Given the description of an element on the screen output the (x, y) to click on. 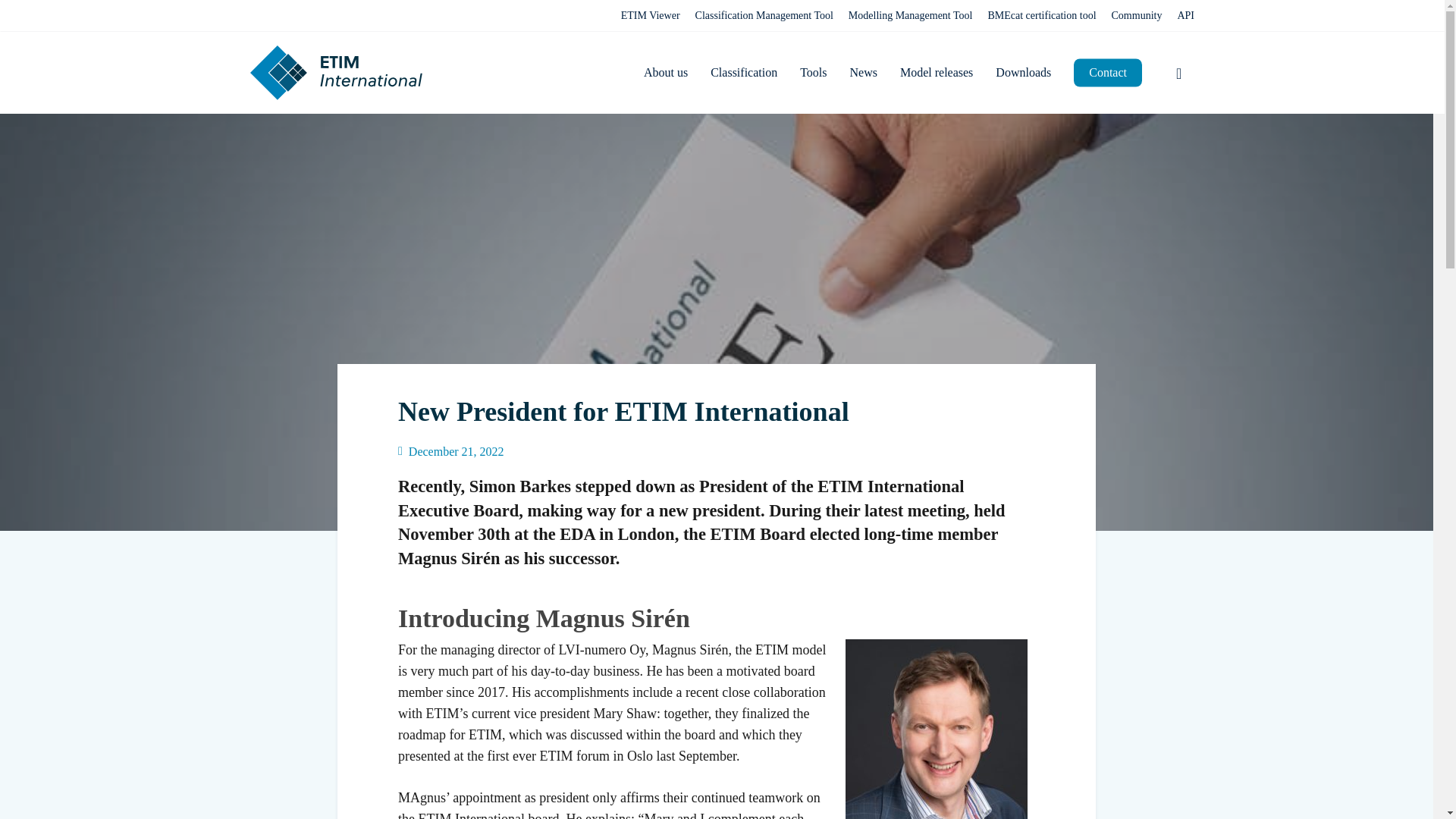
Community (1136, 15)
Tools (813, 72)
BMEcat certification tool (1041, 15)
Classification (743, 72)
API (1184, 15)
ETIM Viewer (650, 15)
Classification Management Tool (763, 15)
Contact (1107, 72)
News (862, 72)
Model releases (935, 72)
Downloads (1023, 72)
About us (665, 72)
Modelling Management Tool (910, 15)
